Given the description of an element on the screen output the (x, y) to click on. 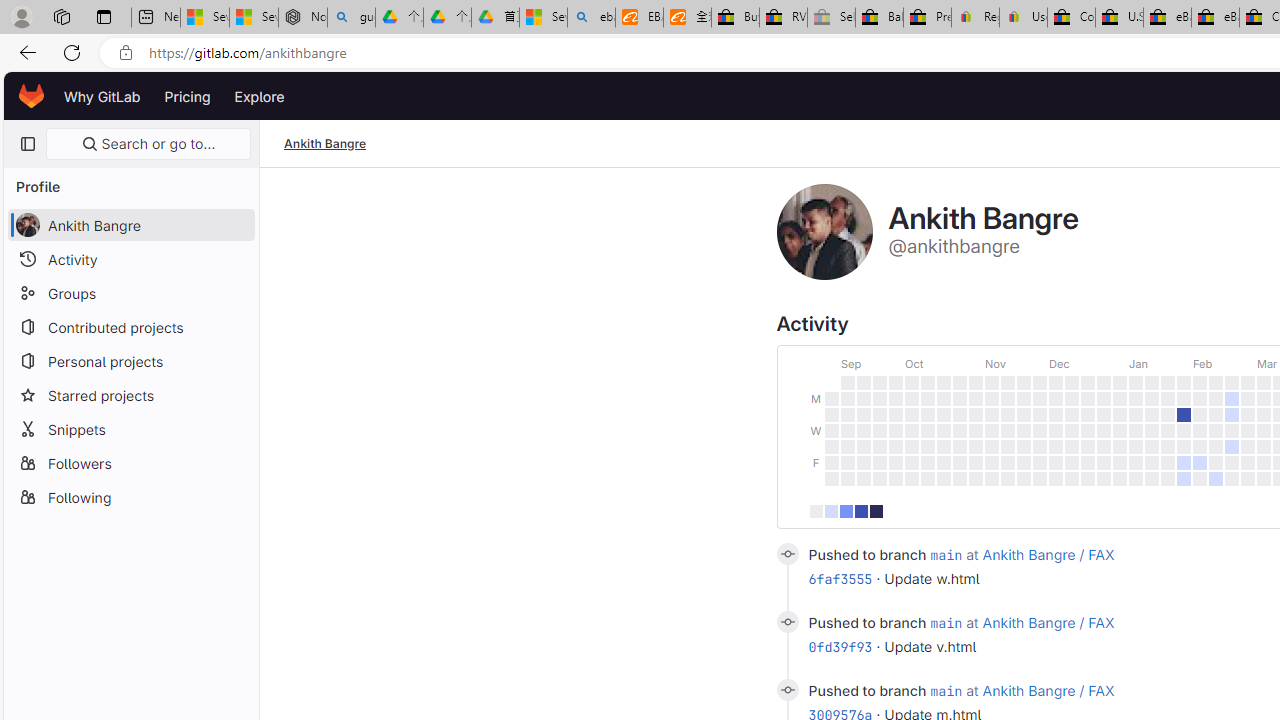
U.S. State Privacy Disclosures - eBay Inc. (1119, 17)
Baby Keepsakes & Announcements for sale | eBay (879, 17)
Sell worldwide with eBay - Sleeping (831, 17)
